Given the description of an element on the screen output the (x, y) to click on. 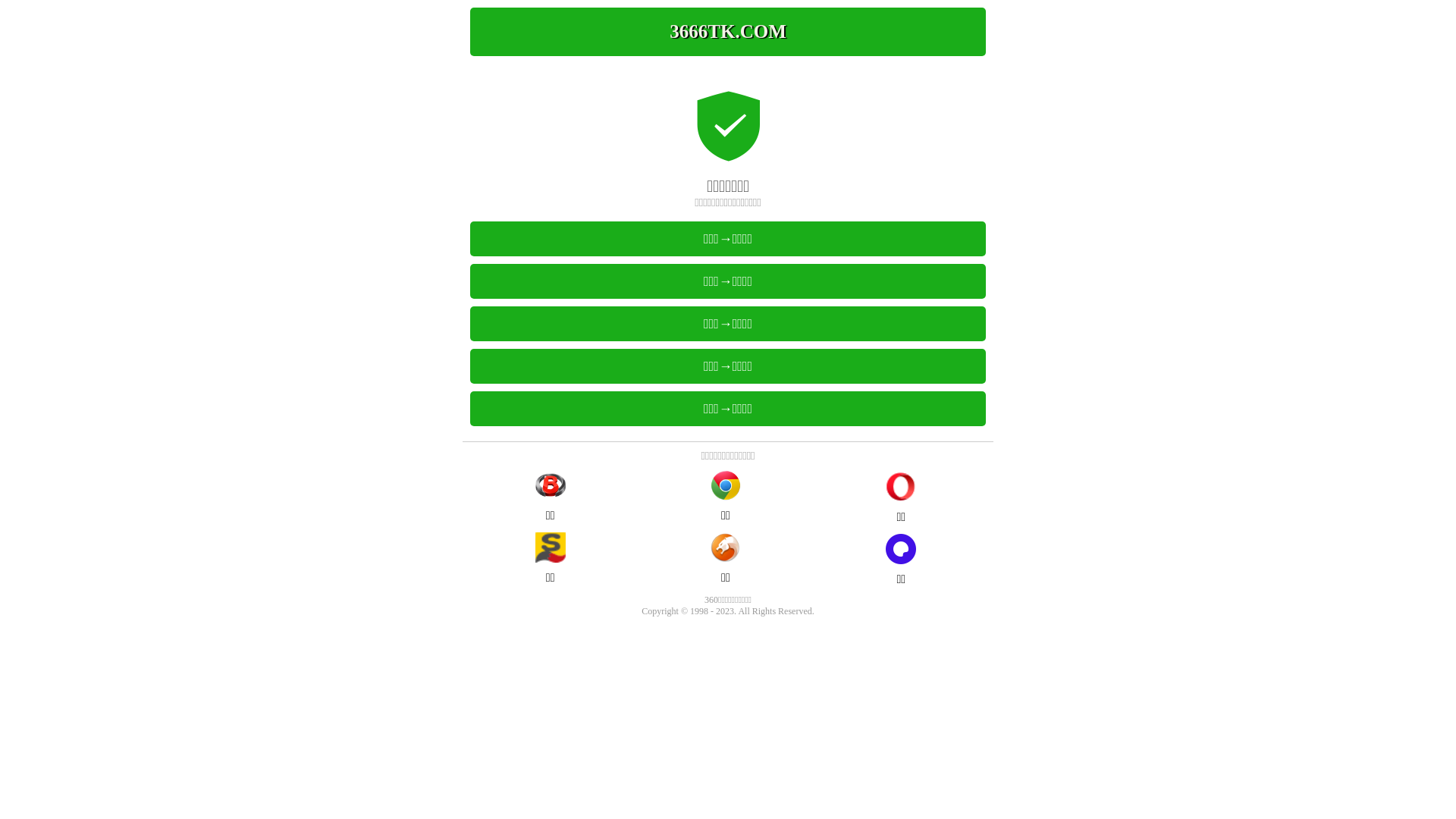
3666TK.COM Element type: text (727, 31)
